Given the description of an element on the screen output the (x, y) to click on. 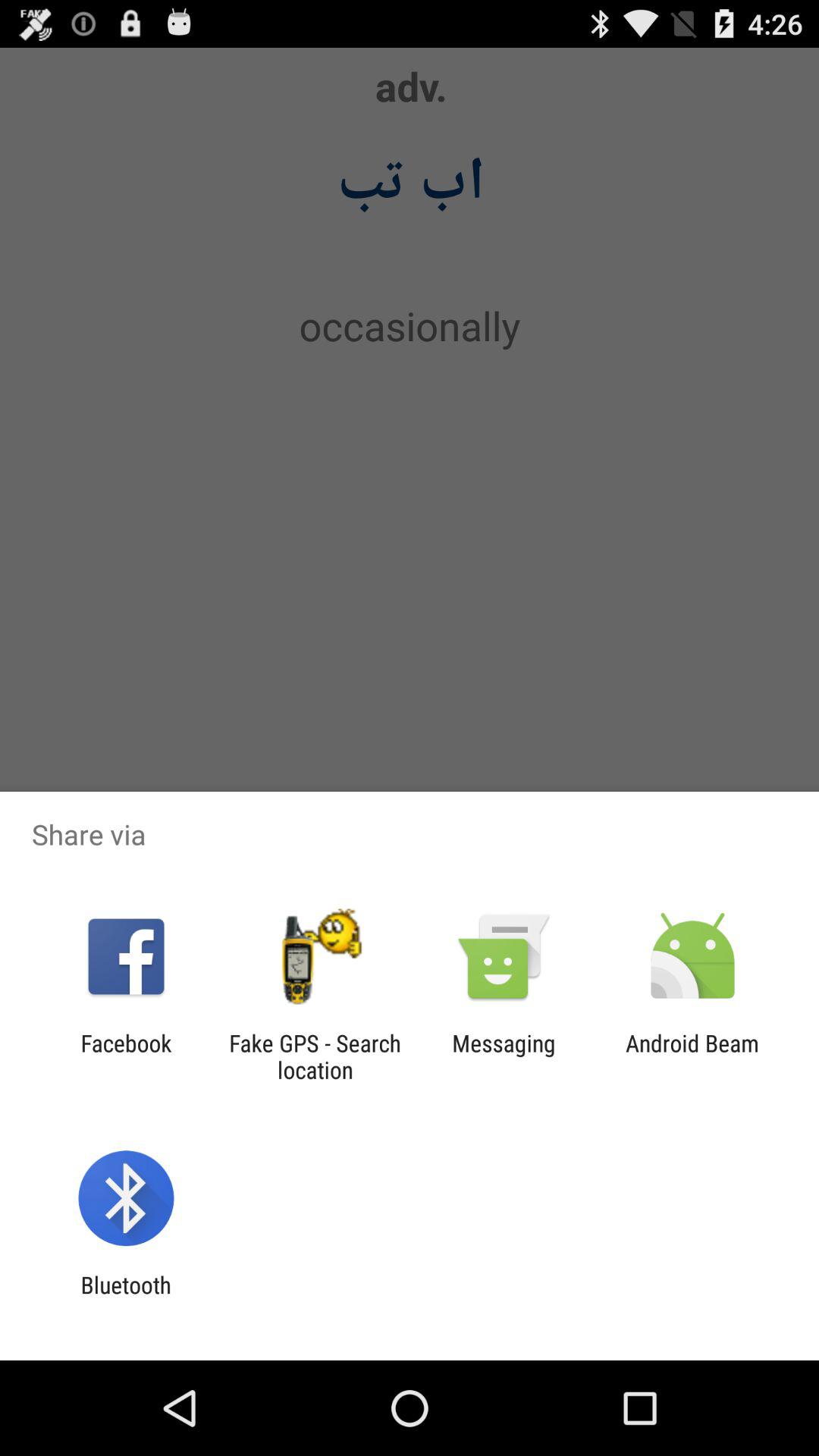
launch the fake gps search icon (314, 1056)
